Given the description of an element on the screen output the (x, y) to click on. 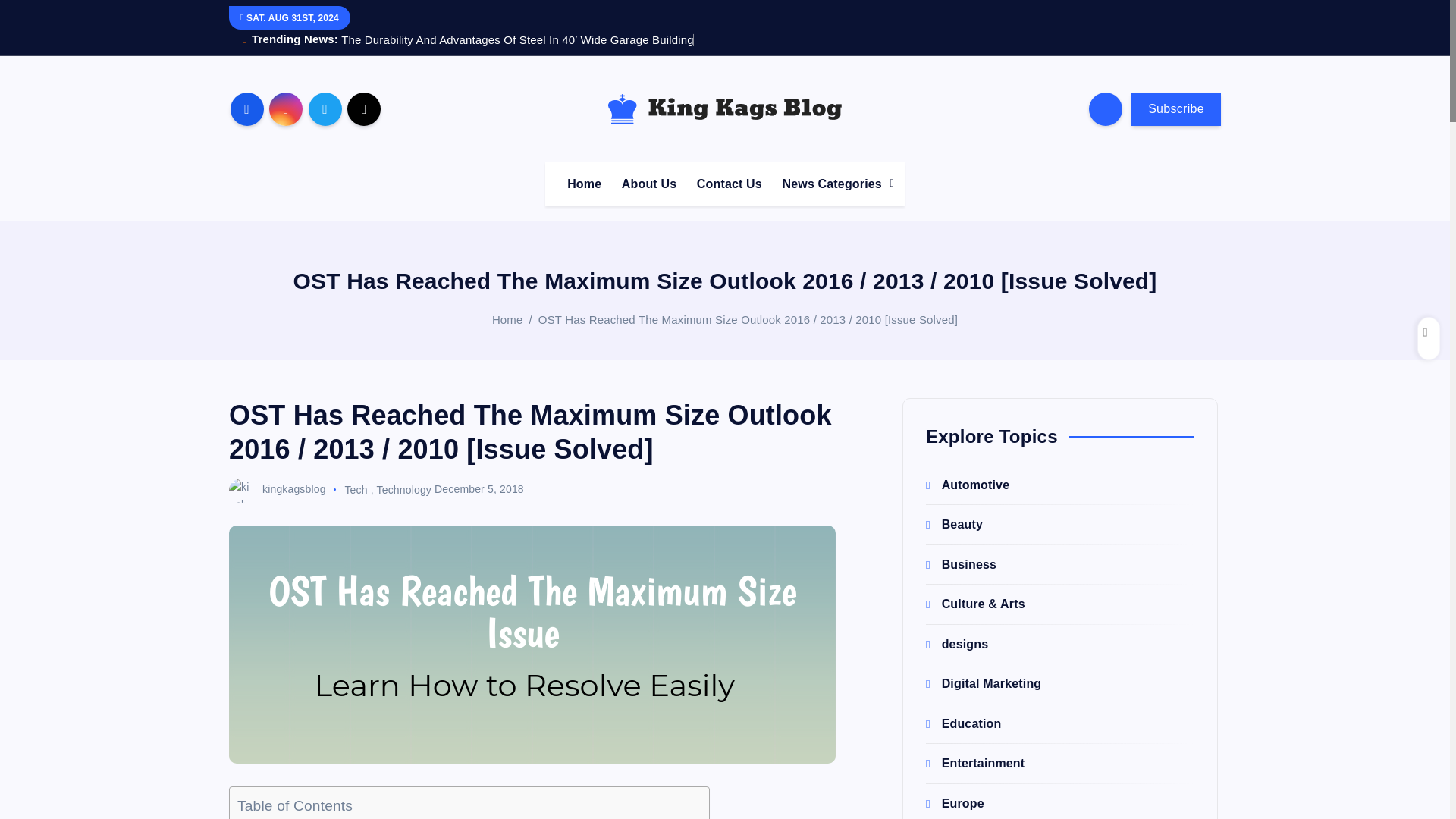
News Categories (833, 184)
Home (583, 184)
Contact Us (729, 184)
Home (507, 318)
Home (583, 184)
News Categories (833, 184)
Subscribe (1176, 109)
About Us (648, 184)
Contact Us (729, 184)
About Us (648, 184)
